Given the description of an element on the screen output the (x, y) to click on. 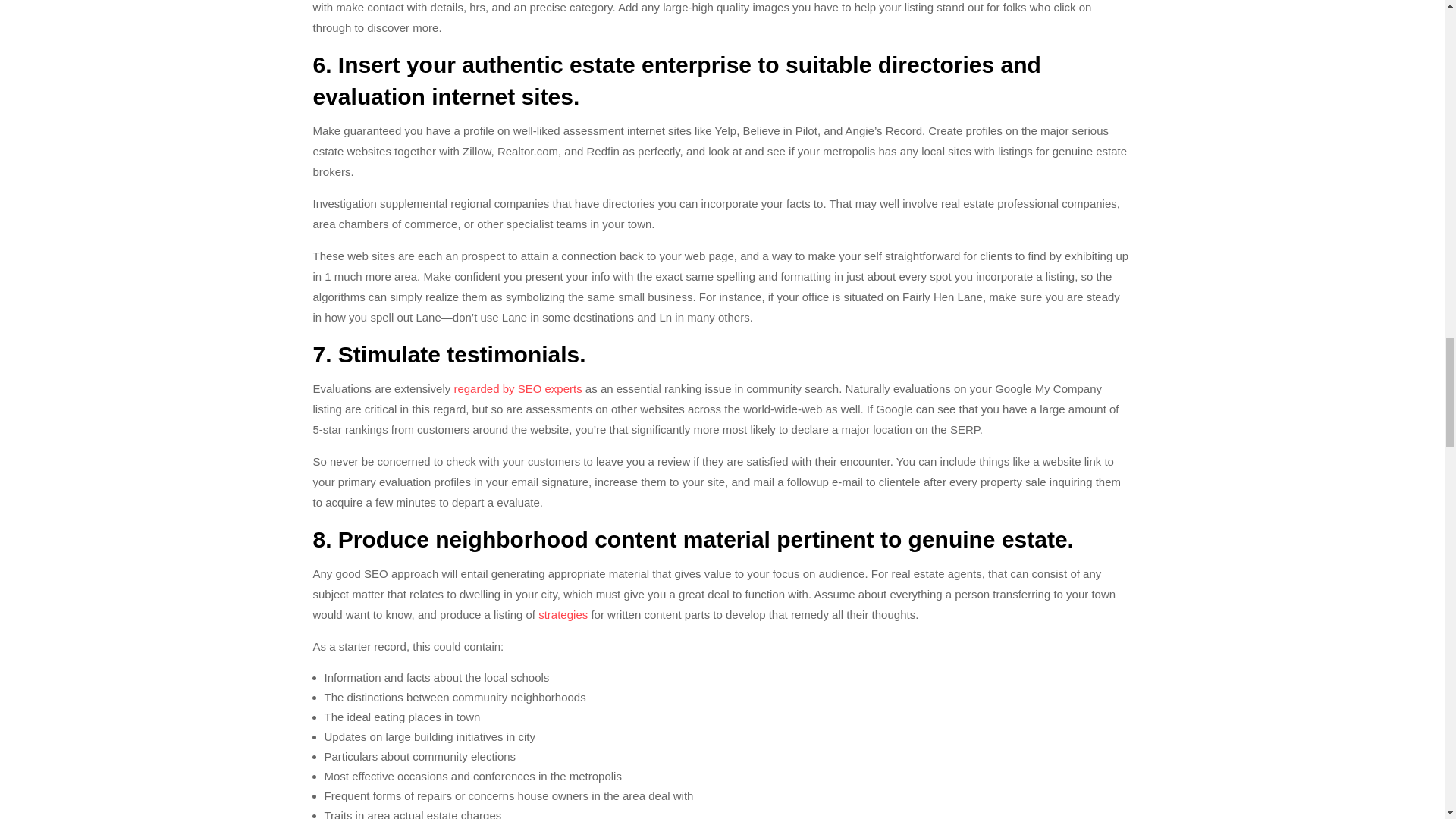
regarded by SEO experts (516, 388)
strategies (563, 614)
